Given the description of an element on the screen output the (x, y) to click on. 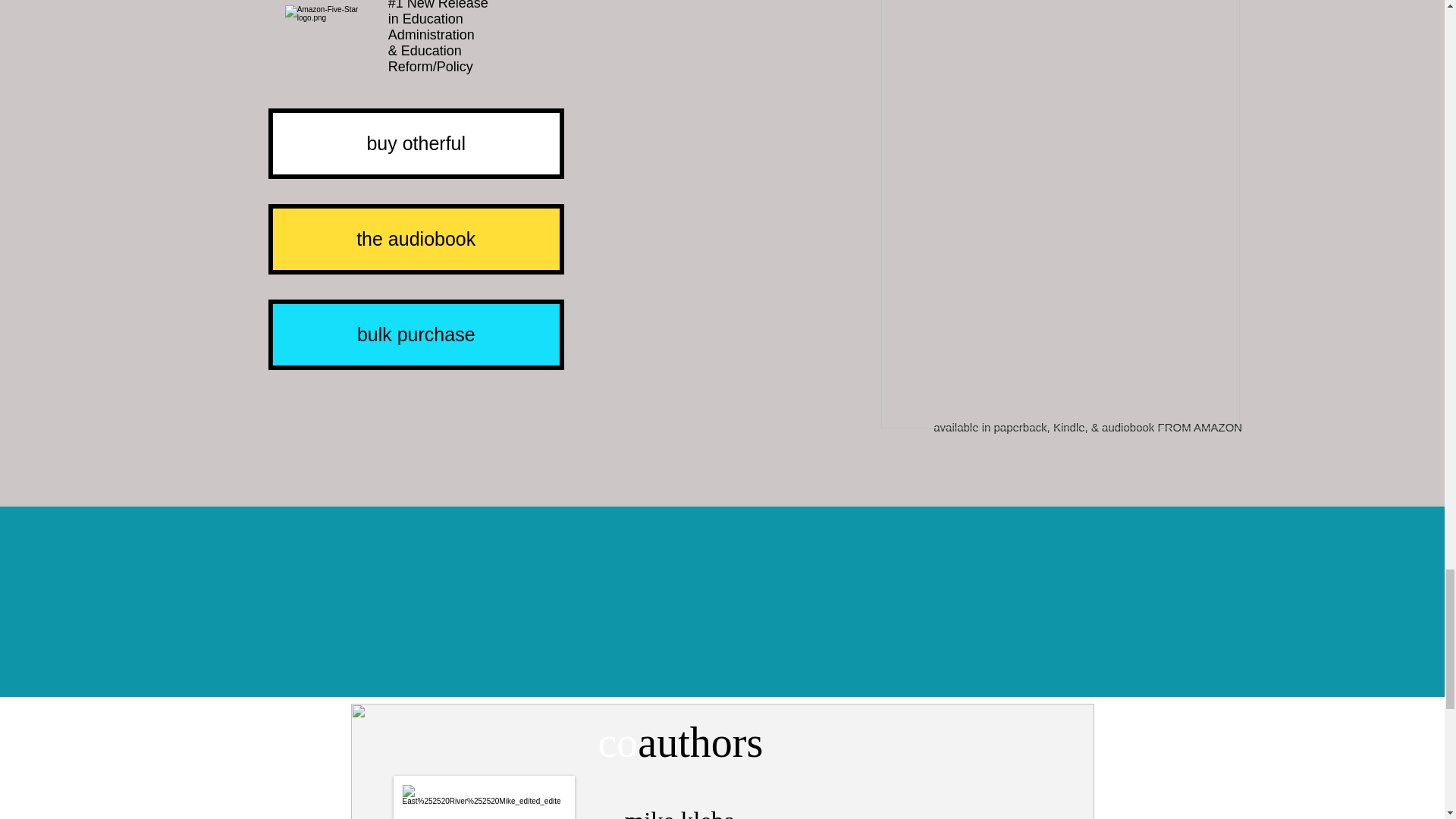
bulk purchase (415, 334)
the audiobook (415, 238)
buy otherful (415, 143)
